Given the description of an element on the screen output the (x, y) to click on. 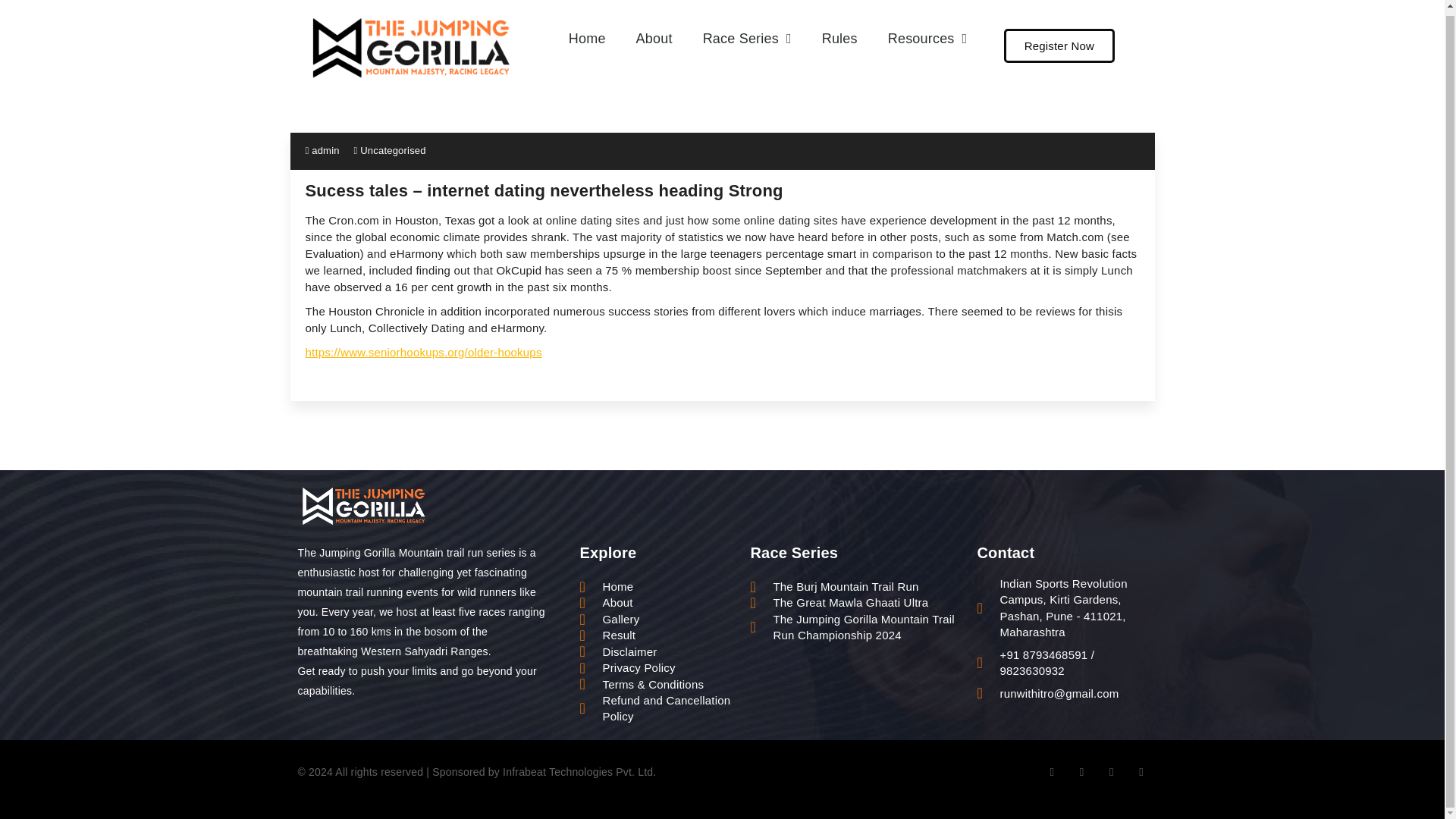
About (654, 33)
Rules (839, 33)
Home (587, 33)
Resources (927, 33)
Register Now (1059, 41)
Race Series (746, 33)
